Given the description of an element on the screen output the (x, y) to click on. 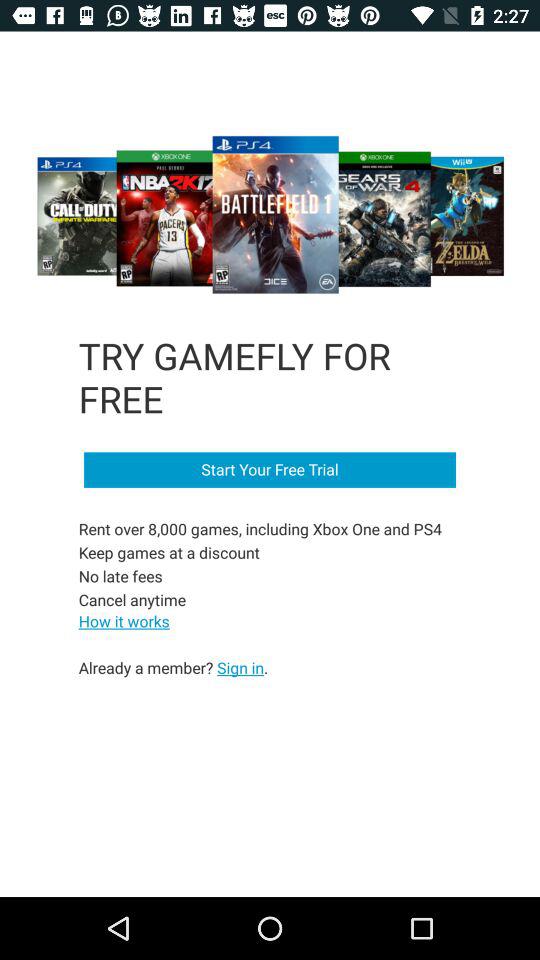
tap the item above rent over 8 item (269, 469)
